Given the description of an element on the screen output the (x, y) to click on. 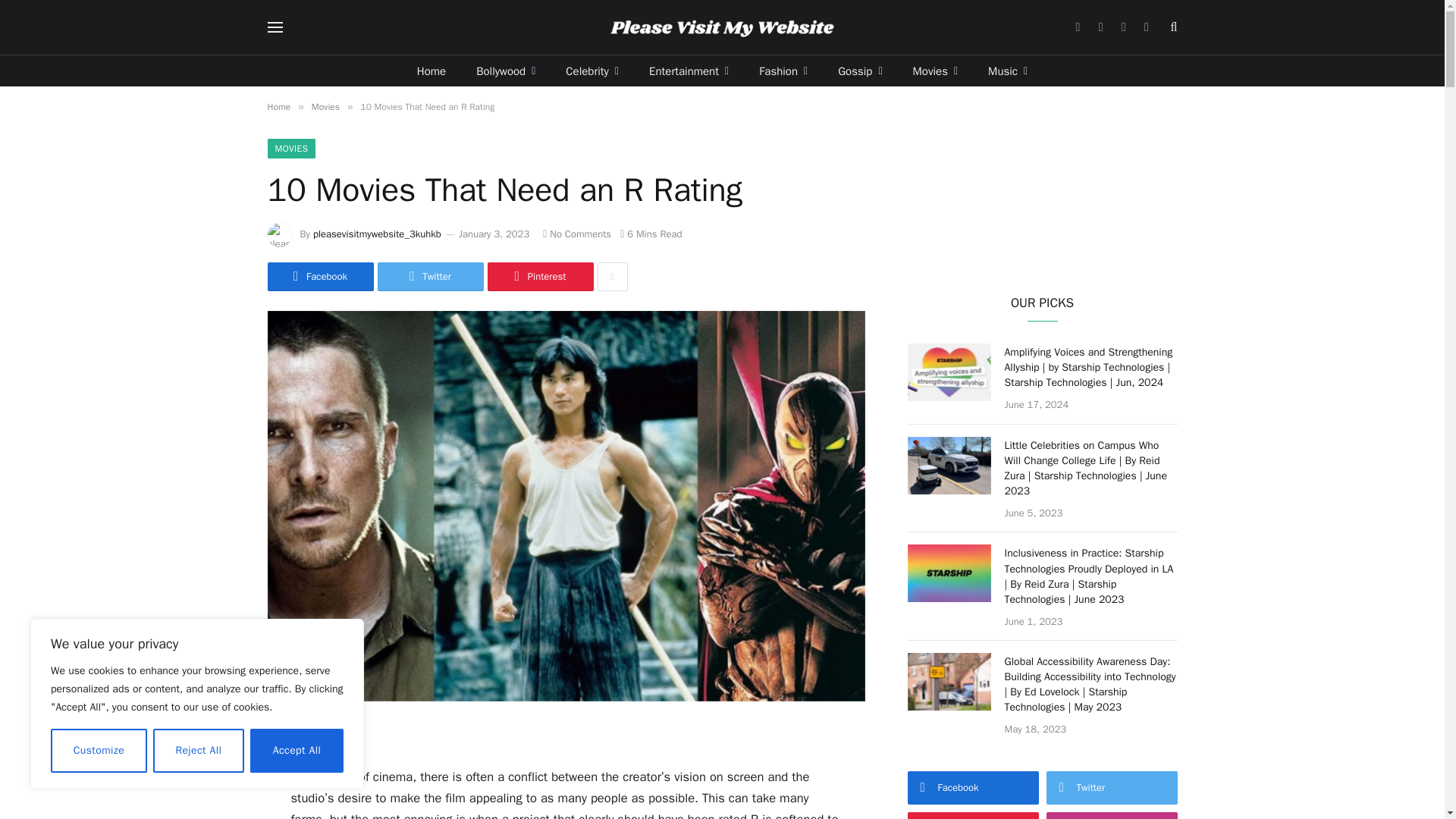
Please Visit My Website (721, 27)
Facebook (1077, 27)
Home (431, 70)
Instagram (1122, 27)
Bollywood (505, 70)
YouTube (1146, 27)
Search (1172, 27)
Accept All (296, 750)
Customize (98, 750)
Twitter (1099, 27)
Reject All (198, 750)
